Given the description of an element on the screen output the (x, y) to click on. 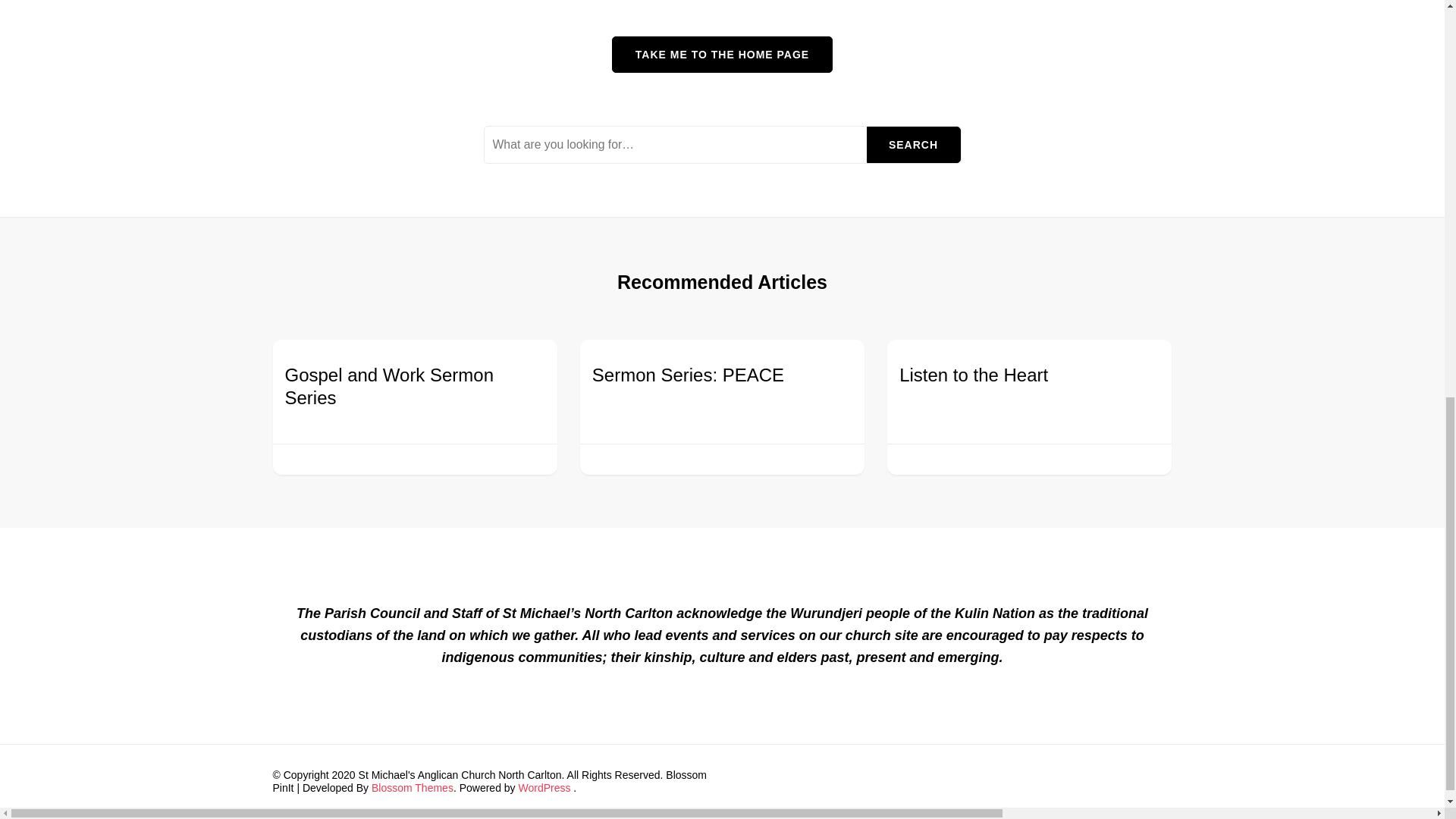
Search (912, 144)
Search (912, 144)
